Given the description of an element on the screen output the (x, y) to click on. 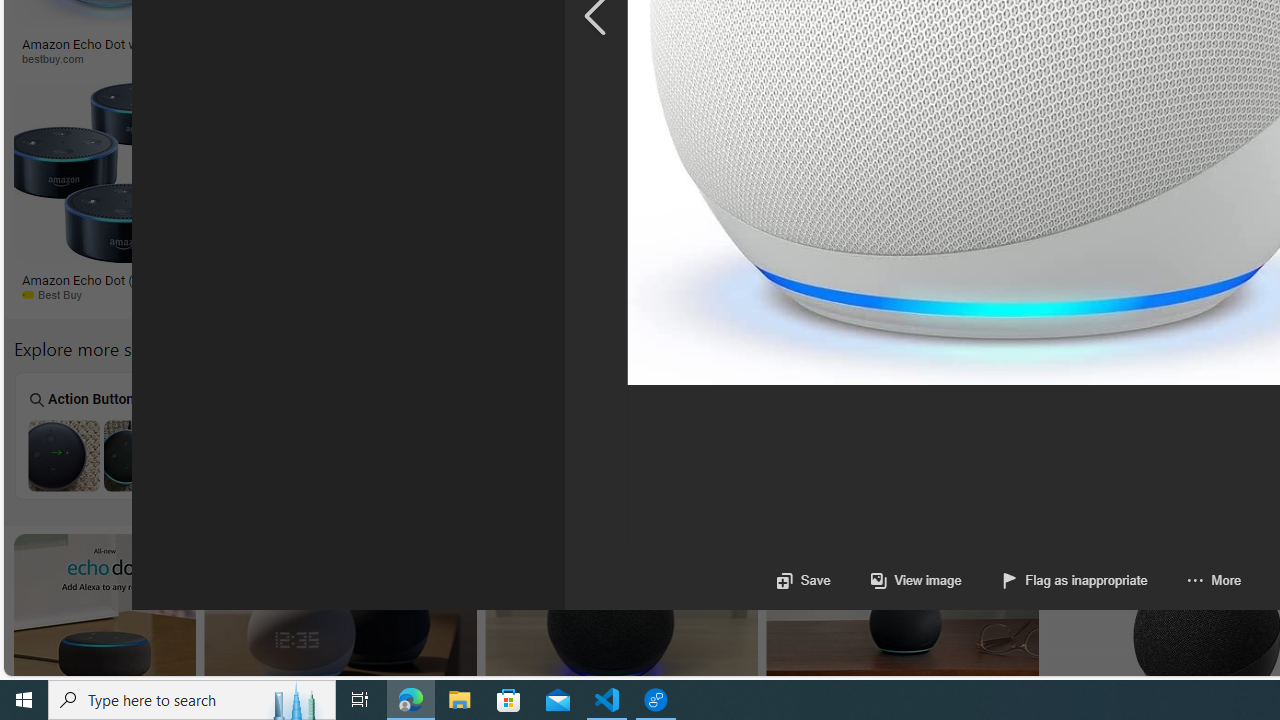
Best Buy (96, 295)
bestbuy.com (703, 57)
techradar.com (495, 294)
Amazon Echo Dot Kids Edition Kids Edition (641, 435)
laptrinhx.com (850, 294)
bestbuy.com (771, 58)
Flag as inappropriate (1054, 580)
techradar.com (620, 295)
